Given the description of an element on the screen output the (x, y) to click on. 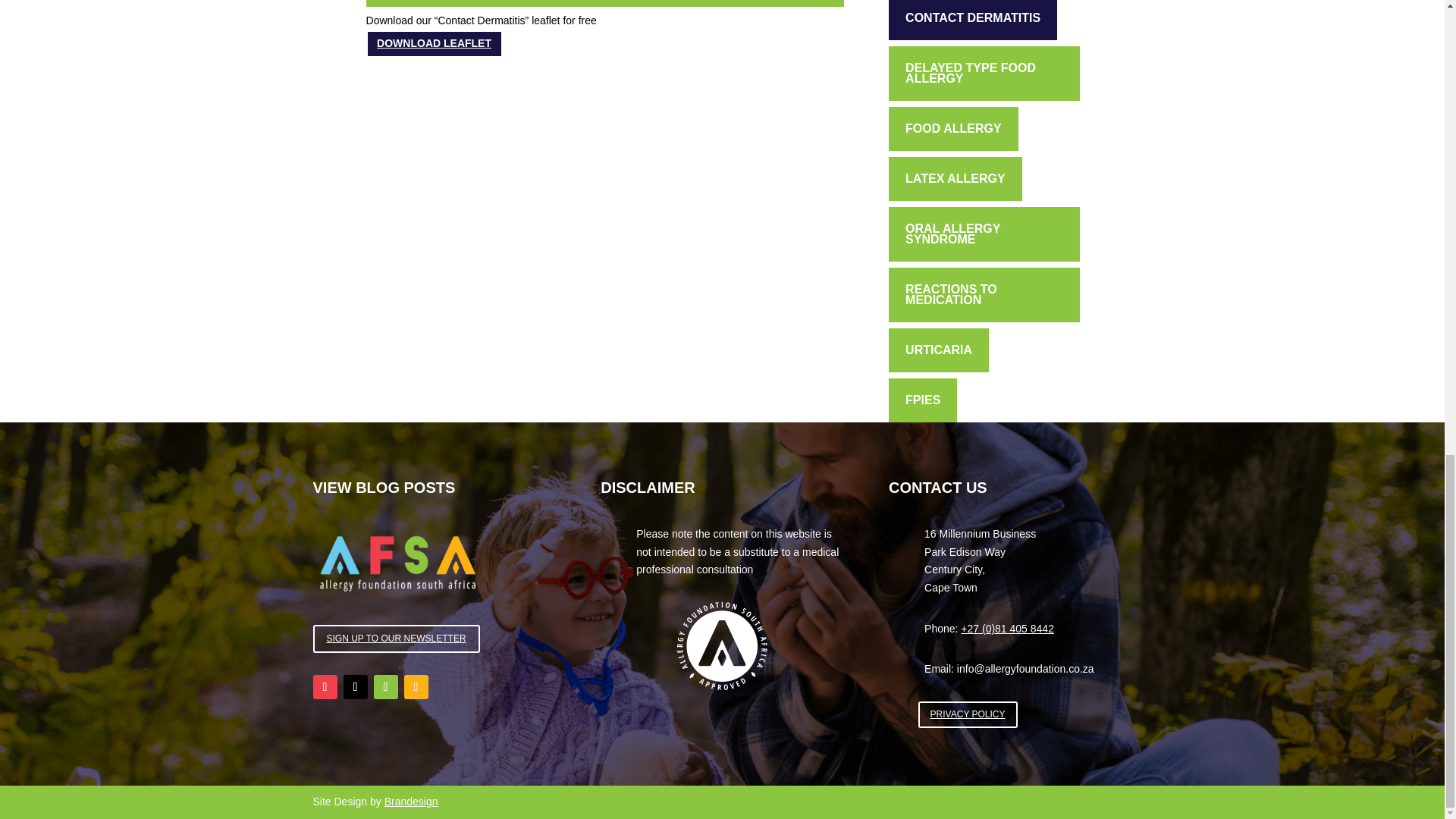
Follow on LinkedIn (415, 686)
Group 28 (722, 646)
Follow on Instagram (384, 686)
Follow on X (354, 686)
Follow on Facebook (324, 686)
